Given the description of an element on the screen output the (x, y) to click on. 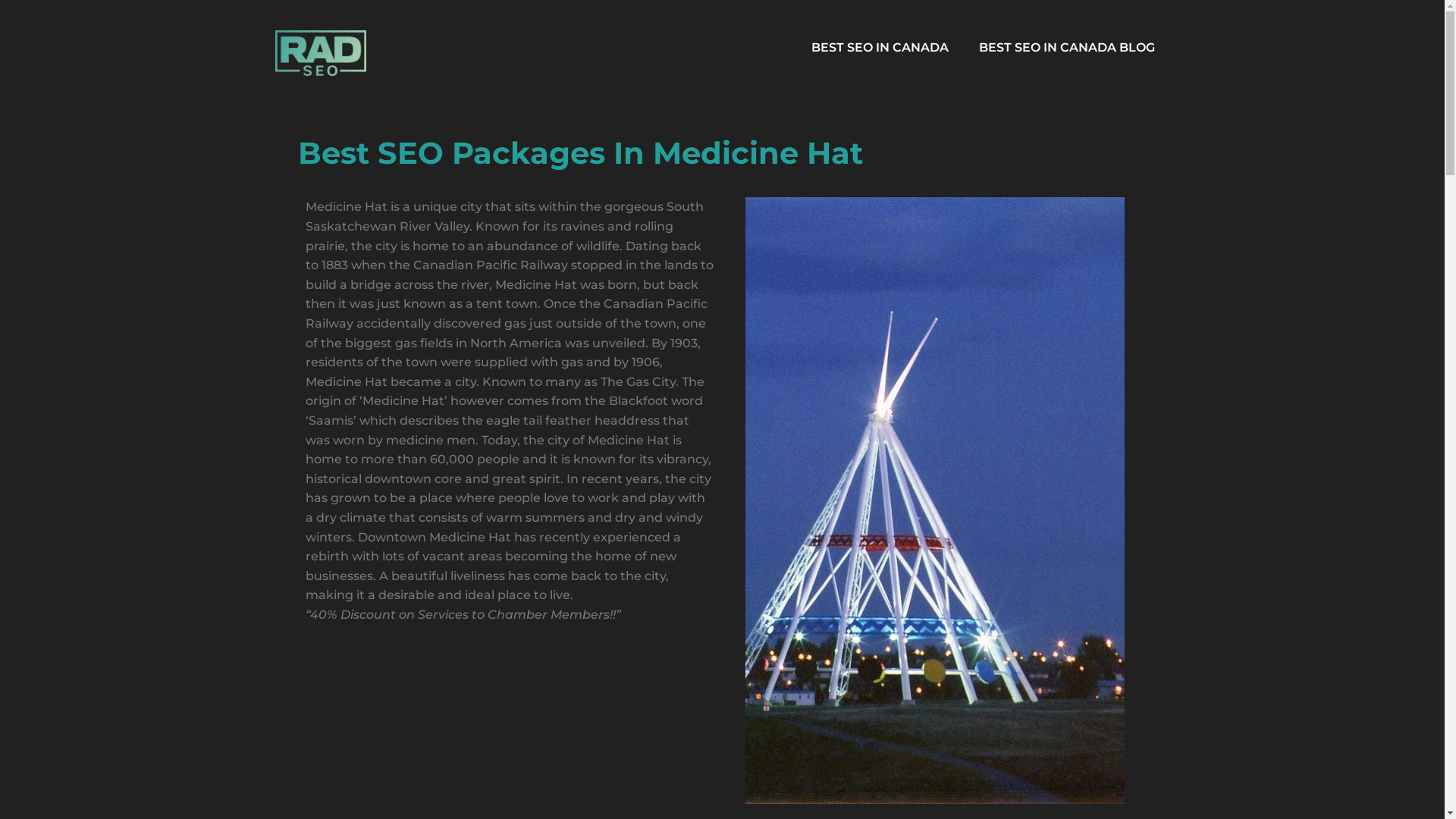
BEST SEO IN CANADA Element type: text (879, 47)
BEST SEO IN CANADA BLOG Element type: text (1066, 47)
MH TP Night Element type: hover (933, 500)
